Given the description of an element on the screen output the (x, y) to click on. 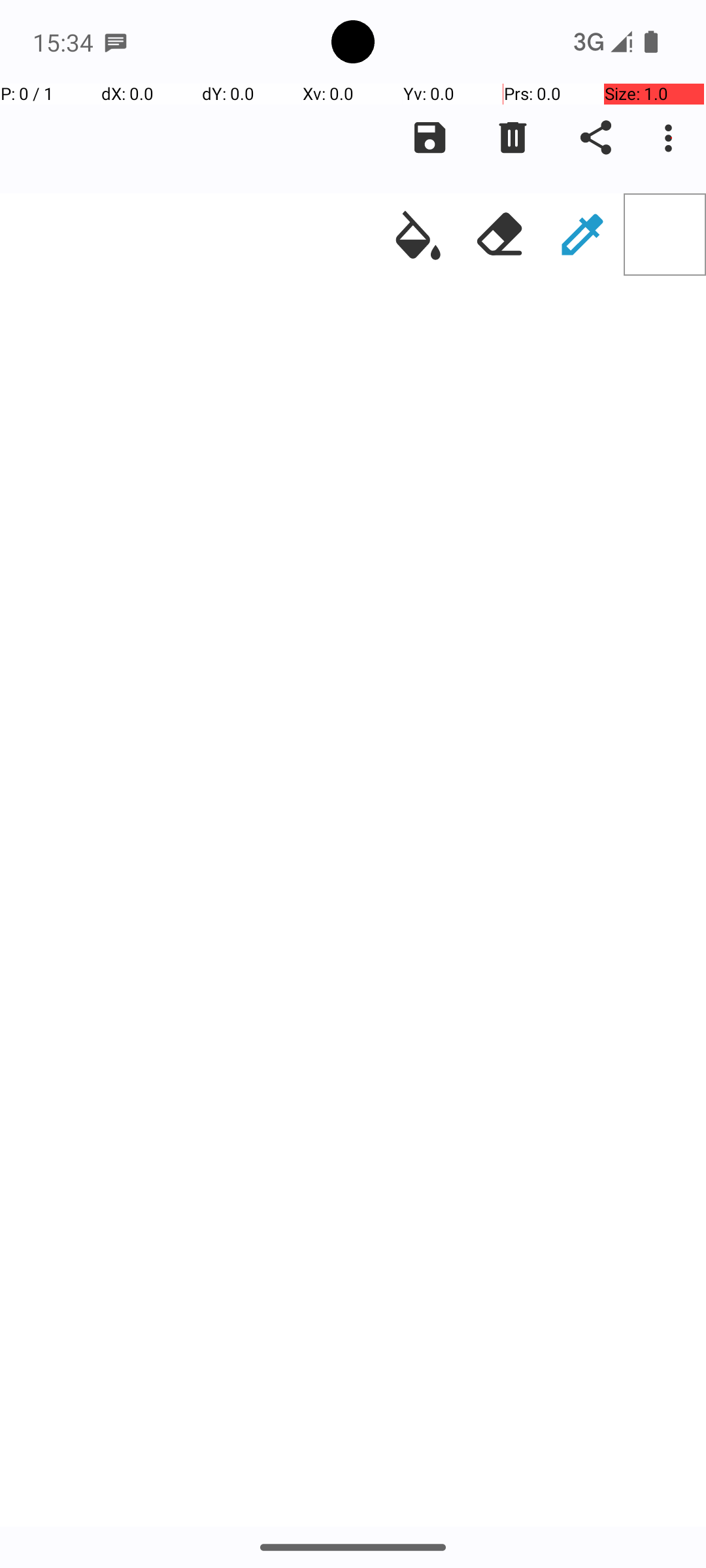
Bucket fill Element type: android.widget.ImageView (417, 234)
Eraser Element type: android.widget.ImageView (499, 234)
Eyedropper Element type: android.widget.ImageView (582, 234)
Change color Element type: android.widget.ImageView (664, 234)
